Given the description of an element on the screen output the (x, y) to click on. 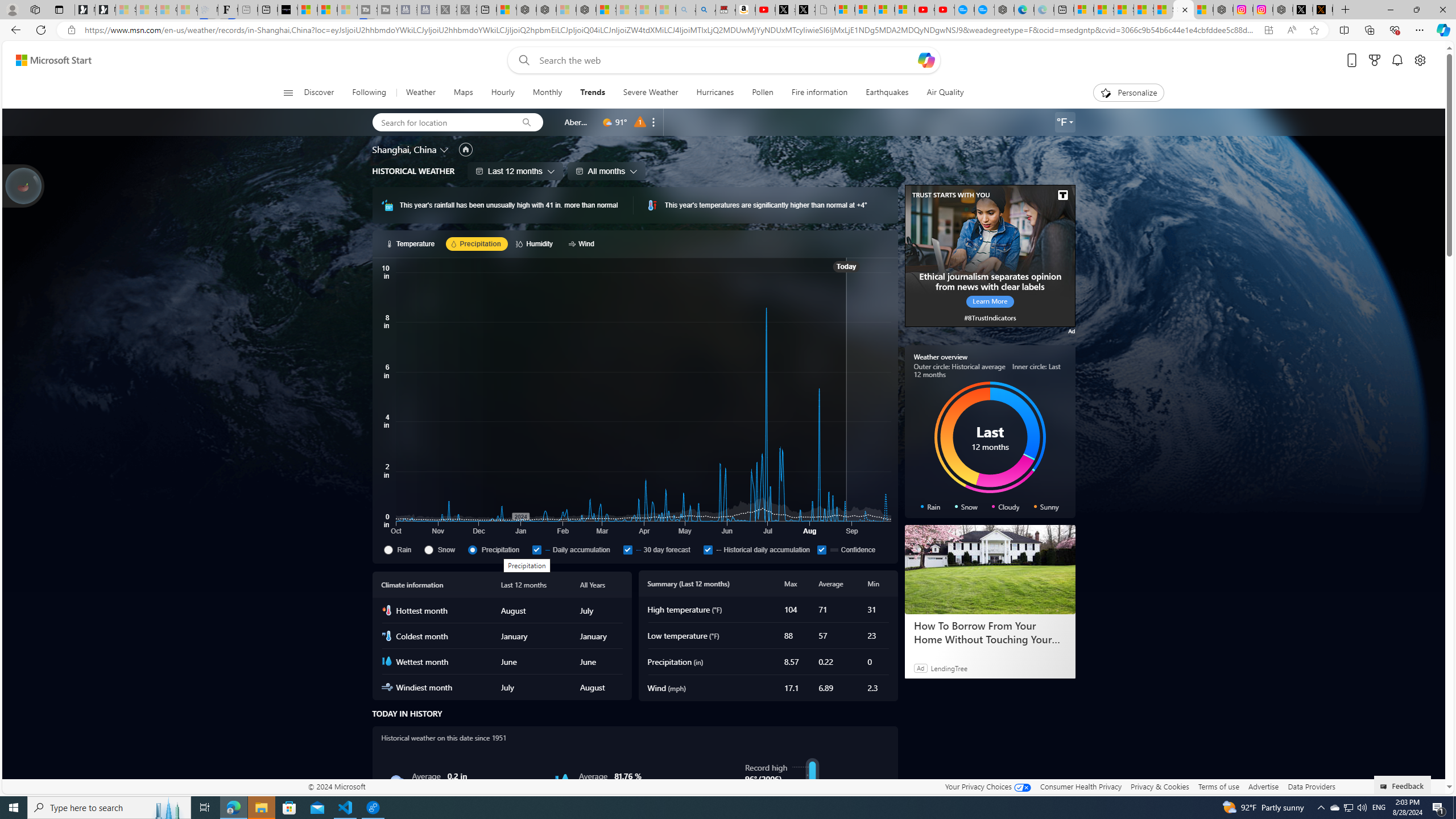
Maps (462, 92)
Privacy & Cookies (1160, 785)
Daily accumulation (574, 549)
30 day forecast (627, 549)
